Given the description of an element on the screen output the (x, y) to click on. 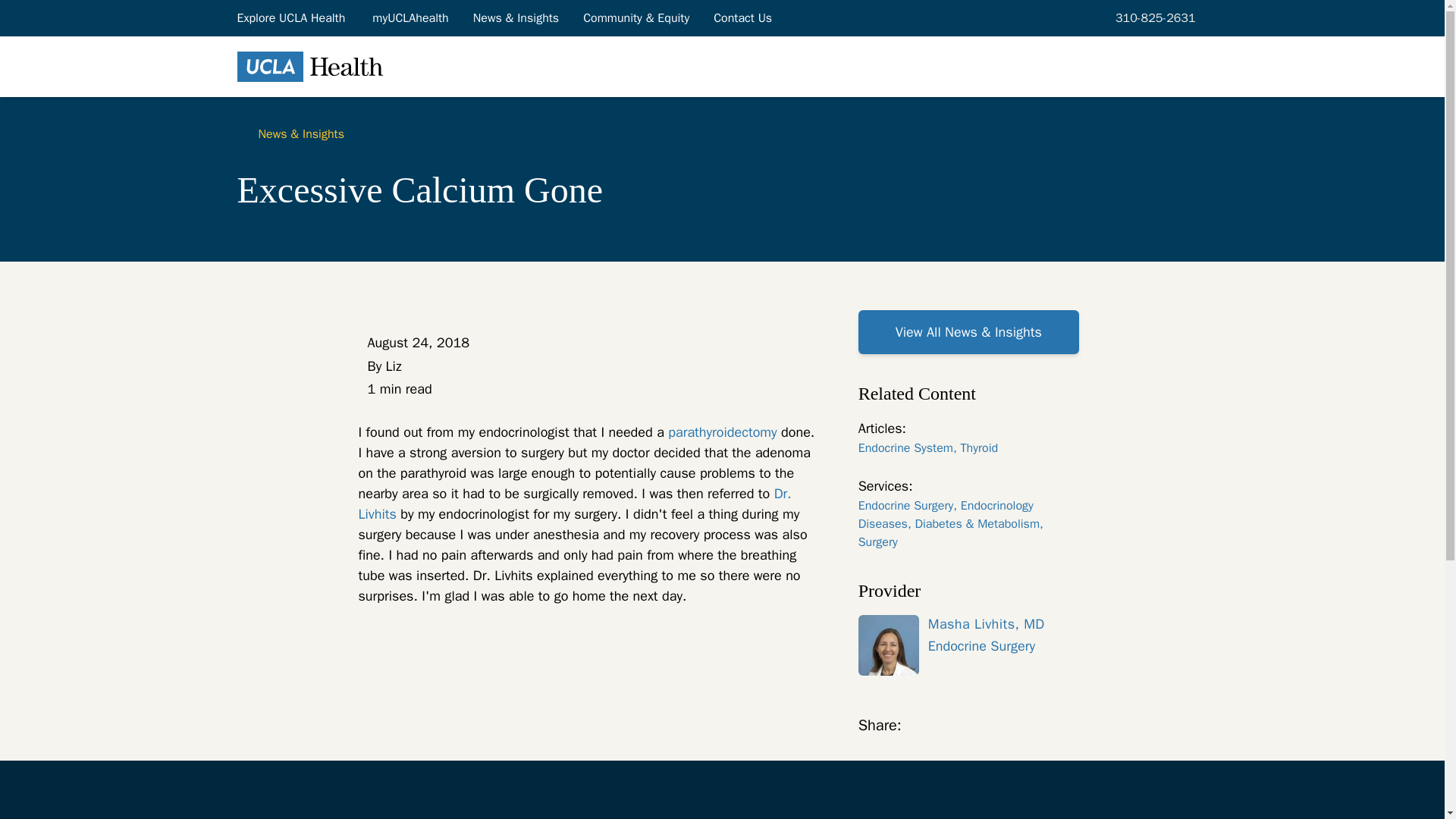
parathyroidectomy (722, 432)
Contact Us (742, 17)
myUCLAhealth Login. (409, 17)
myUCLAhealth (409, 17)
310-825-2631 (1152, 17)
Explore UCLA Health (291, 17)
Dr. Livhits (574, 503)
